Given the description of an element on the screen output the (x, y) to click on. 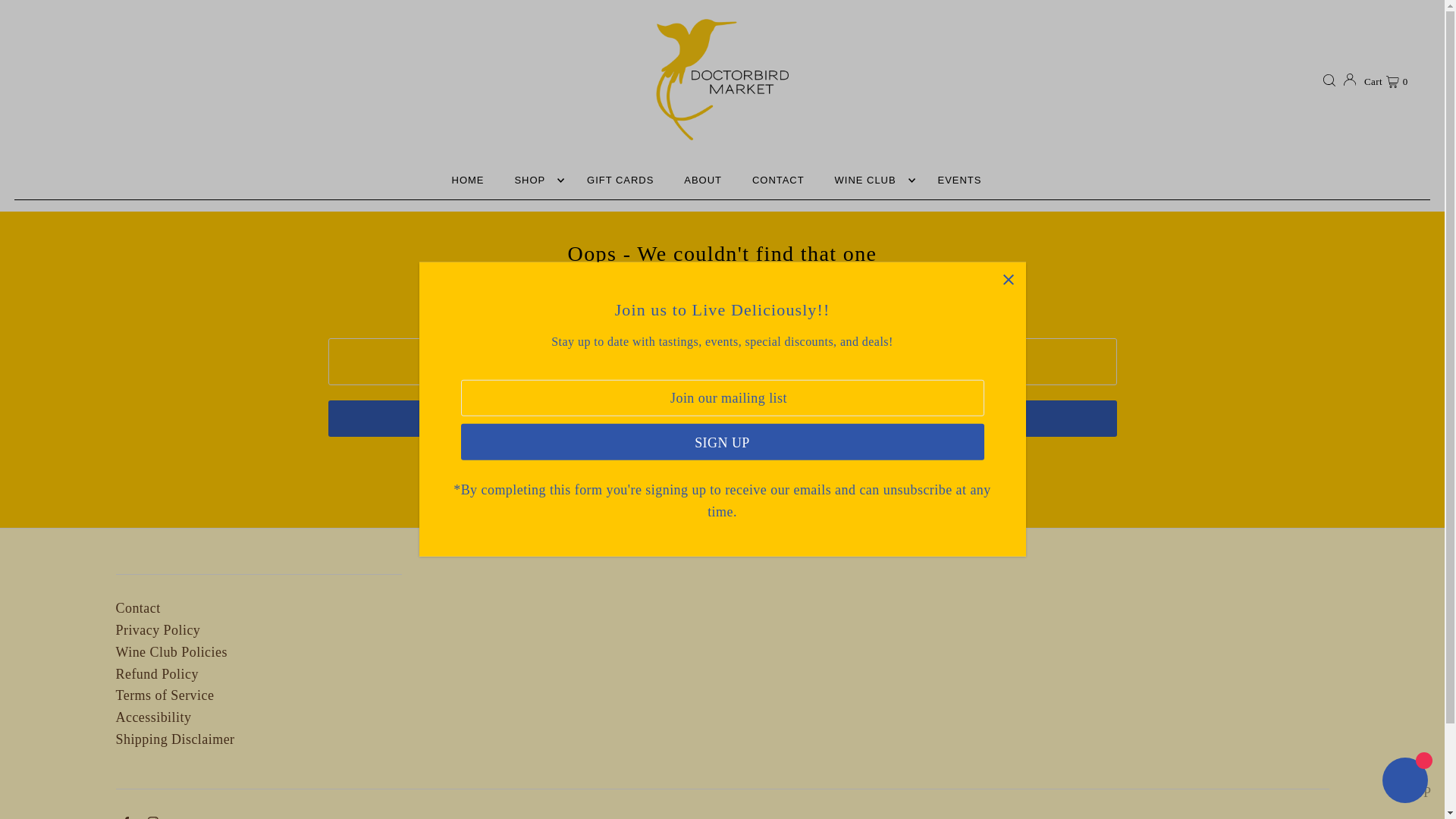
EVENTS (960, 180)
SHOP (535, 180)
Sign up (722, 442)
Search (721, 418)
GIFT CARDS (620, 180)
CONTACT (778, 180)
TOP (1417, 788)
WINE CLUB (871, 180)
Search (721, 418)
Click to scroll to top (1417, 788)
Shopify online store chat (1404, 781)
Cart (1385, 79)
Close popup (1008, 279)
ABOUT (703, 180)
Contact (137, 607)
